Given the description of an element on the screen output the (x, y) to click on. 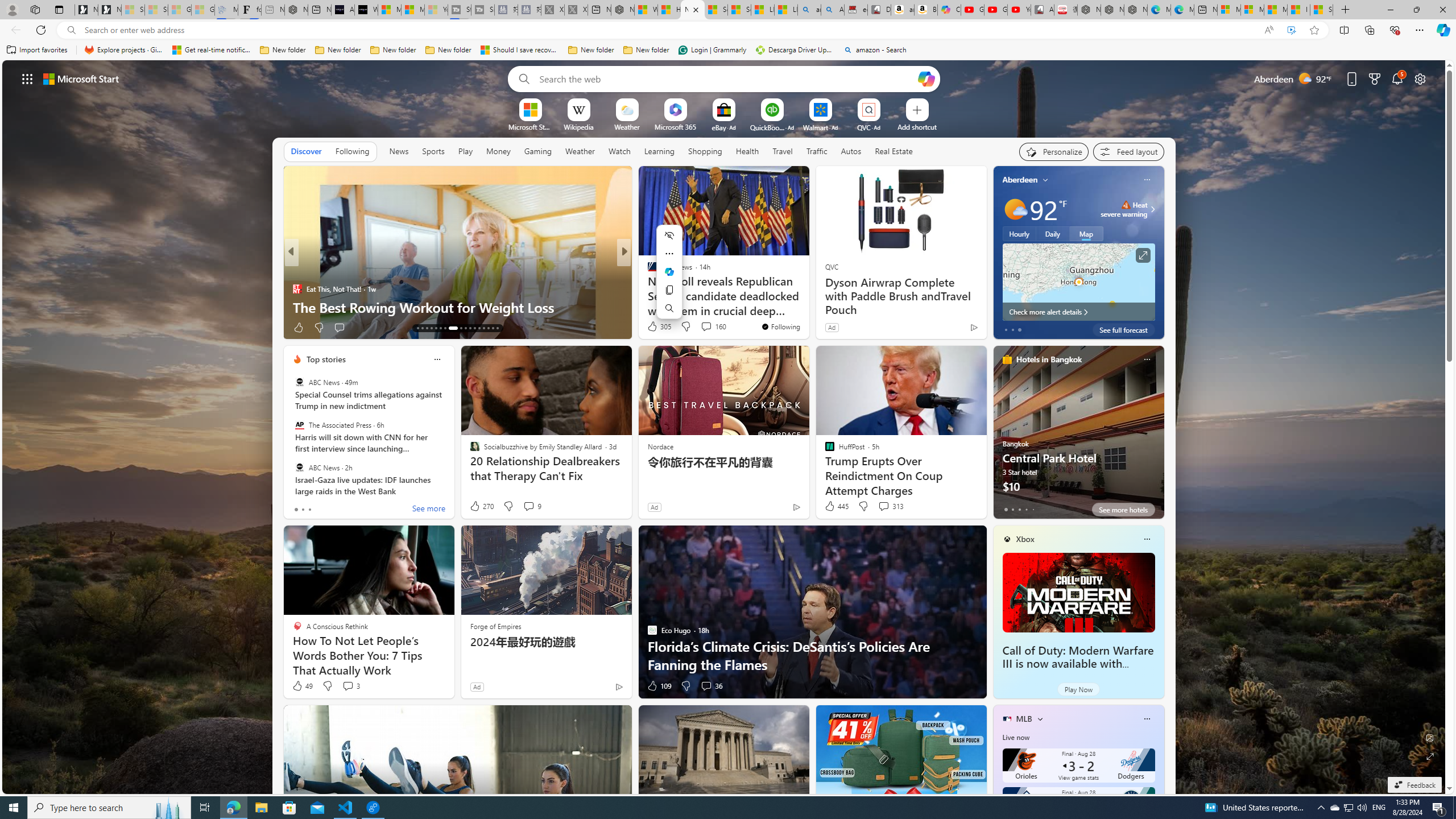
Colin Allred Two Points Behind Ted Cruz in Second Texas Poll (807, 298)
View comments 26 Comment (353, 327)
Descarga Driver Updater (794, 49)
Restore (1416, 9)
Personalize your feed" (1054, 151)
Start the conversation (703, 327)
Nordace - #1 Japanese Best-Seller - Siena Smart Backpack (296, 9)
Copy (668, 289)
amazon.in/dp/B0CX59H5W7/?tag=gsmcom05-21 (902, 9)
